Given the description of an element on the screen output the (x, y) to click on. 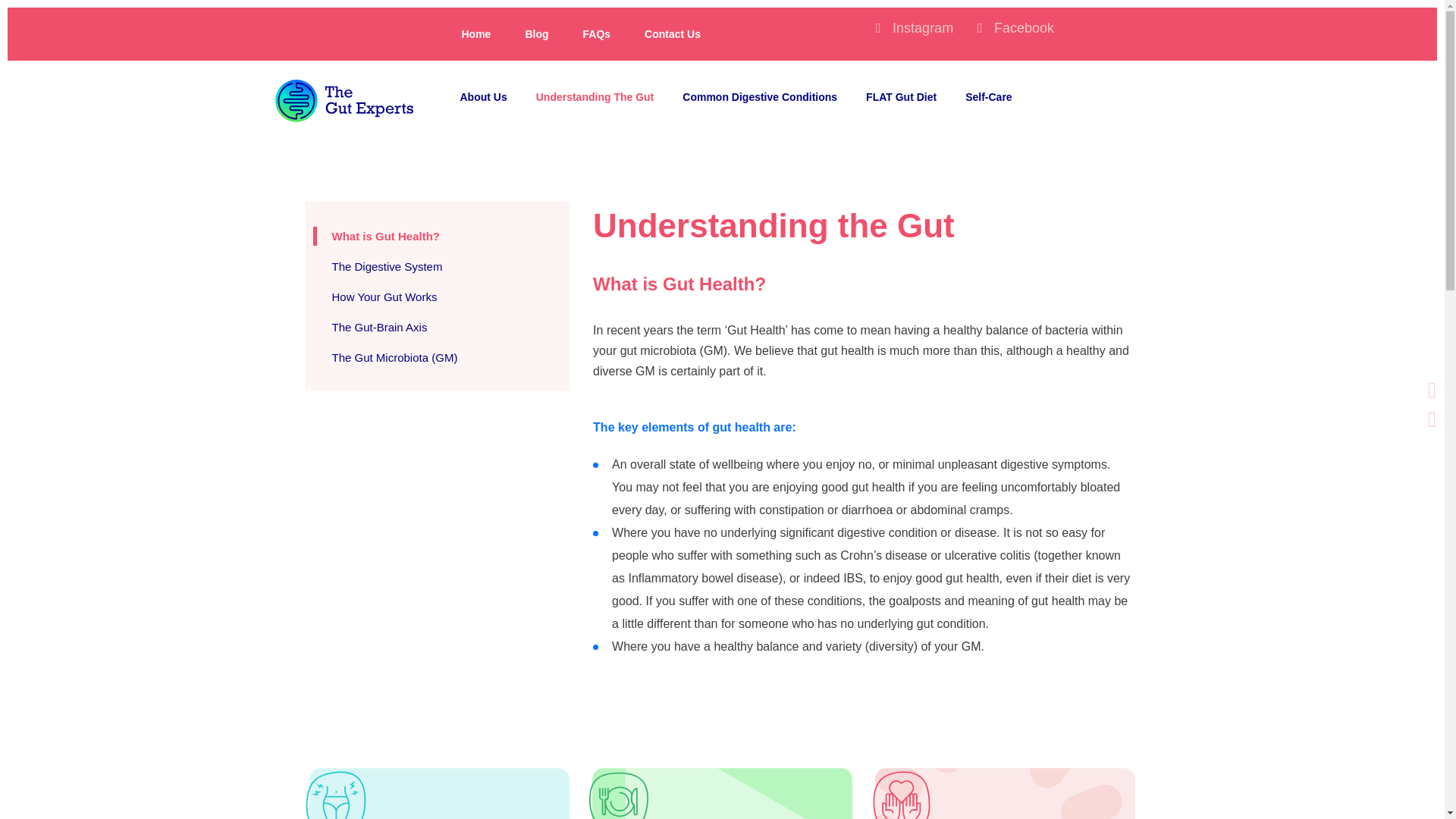
Common Digestive Conditions (759, 96)
The Gut Experts (343, 100)
Instagram (918, 28)
FLAT Gut Diet (901, 96)
Understanding the Gut (595, 96)
About Us (483, 96)
facebook (1019, 28)
Contact Us (672, 33)
About Us (483, 96)
Self-Care (988, 96)
Instagram (918, 28)
Understanding The Gut (595, 96)
Contact Us (672, 33)
Facebook (1019, 28)
